Given the description of an element on the screen output the (x, y) to click on. 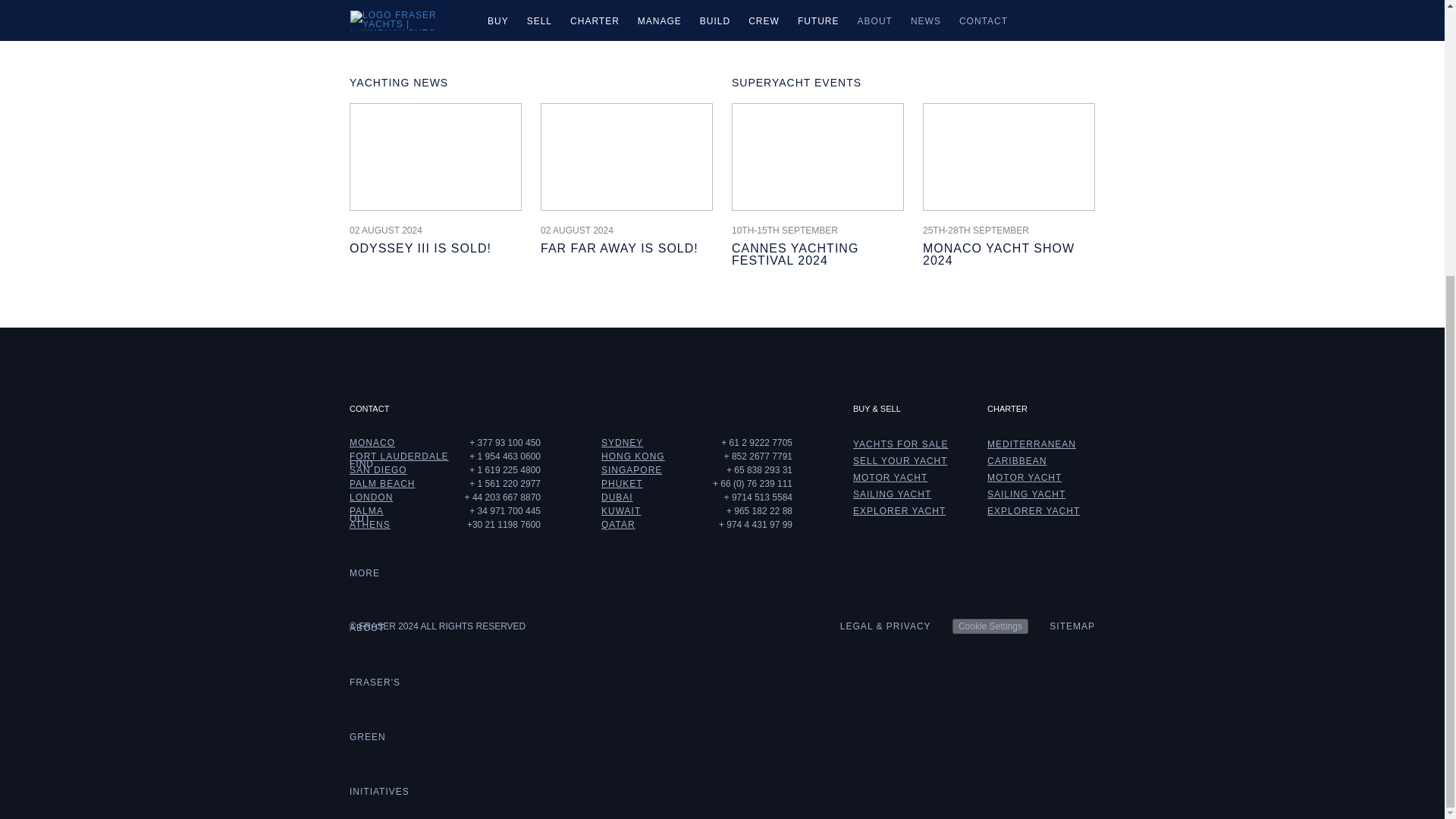
Explorer yacht (1033, 511)
YouTube (1049, 355)
Facebook (943, 355)
Instagram (1075, 355)
Pinterest (996, 355)
LinkedIn (1022, 355)
Twitter (969, 355)
